Given the description of an element on the screen output the (x, y) to click on. 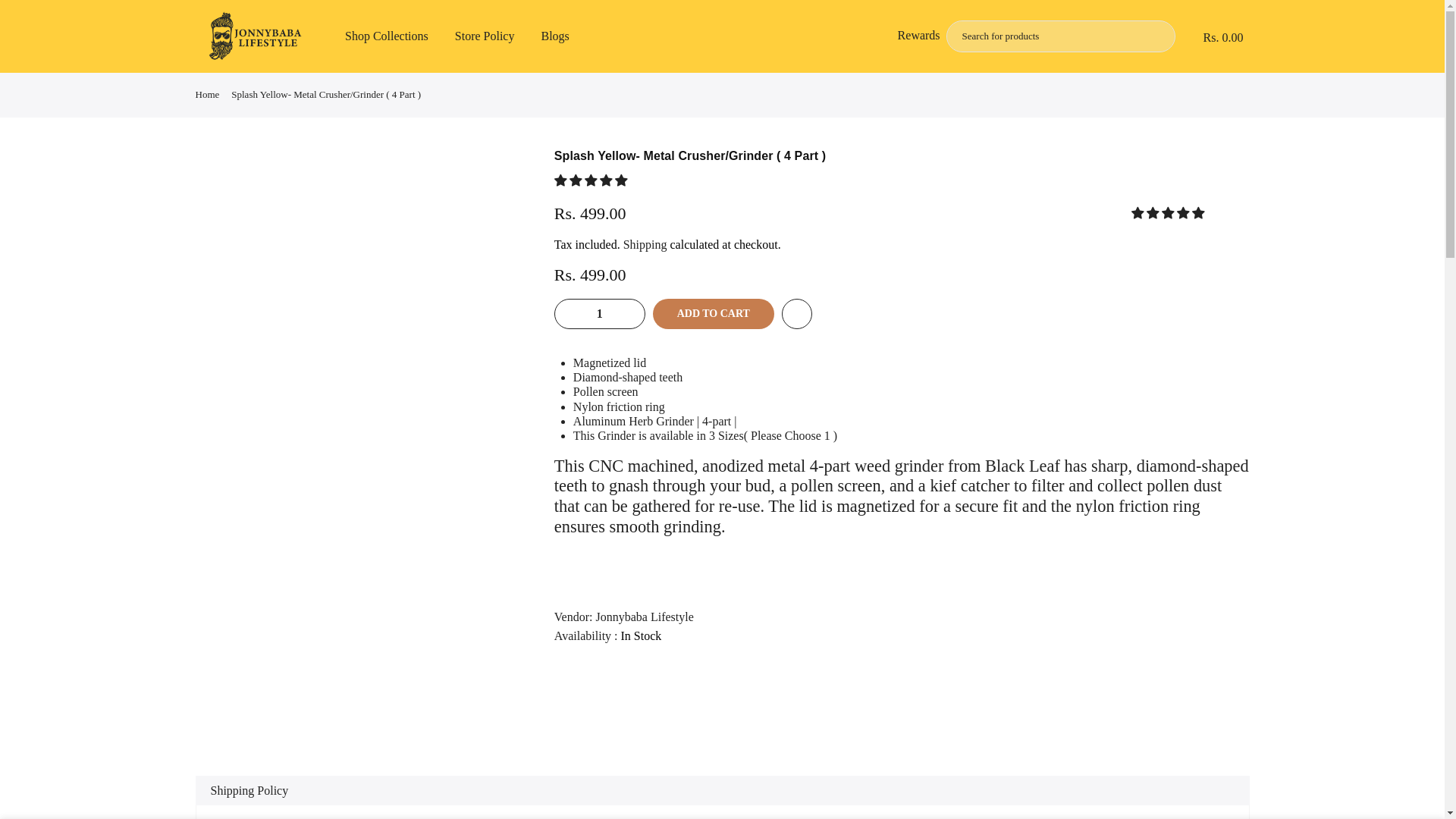
1 (599, 313)
Shop Collections (386, 36)
Jonnybaba Lifestyle (644, 616)
